Given the description of an element on the screen output the (x, y) to click on. 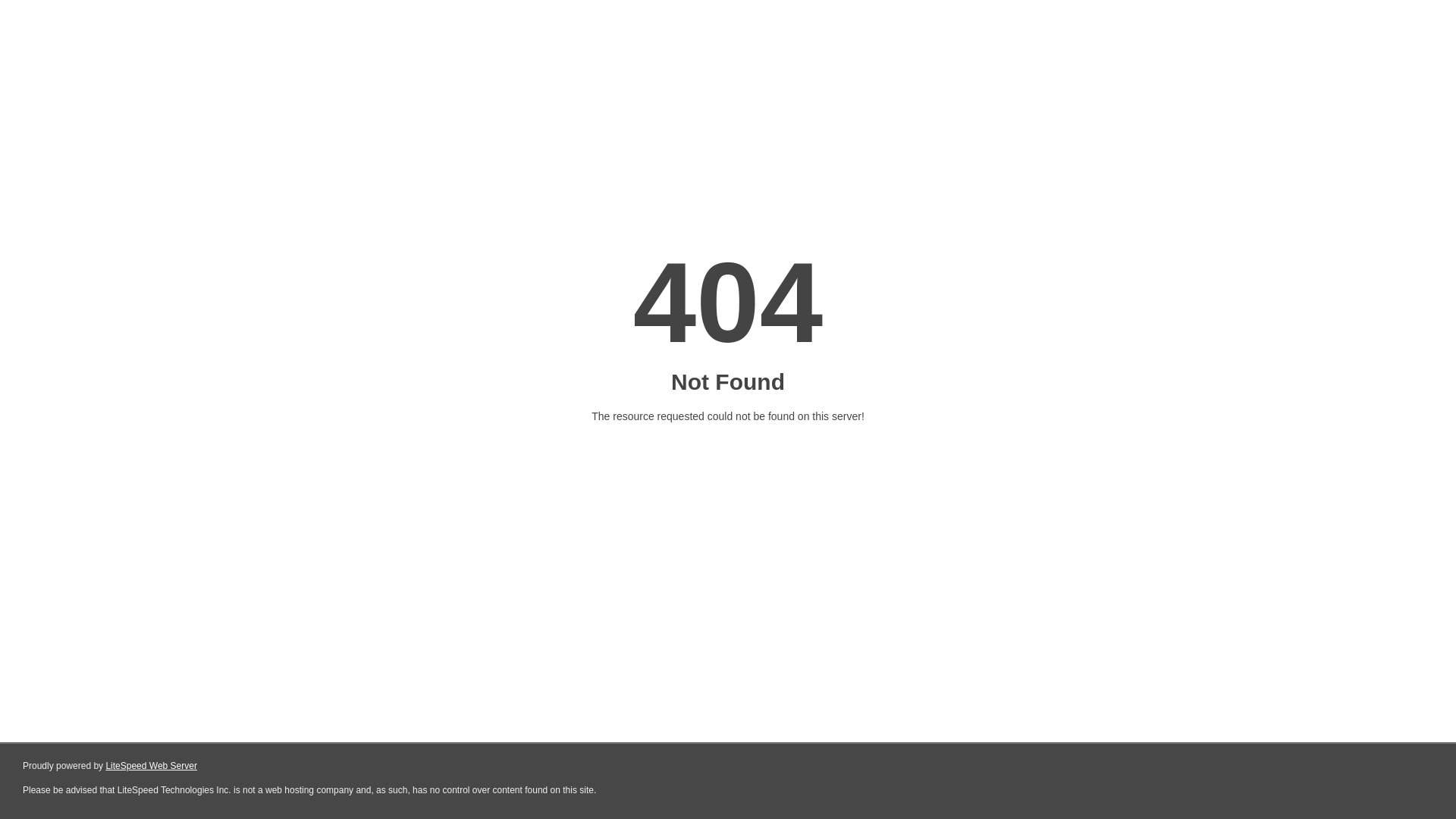
LiteSpeed Web Server Element type: text (151, 765)
